Given the description of an element on the screen output the (x, y) to click on. 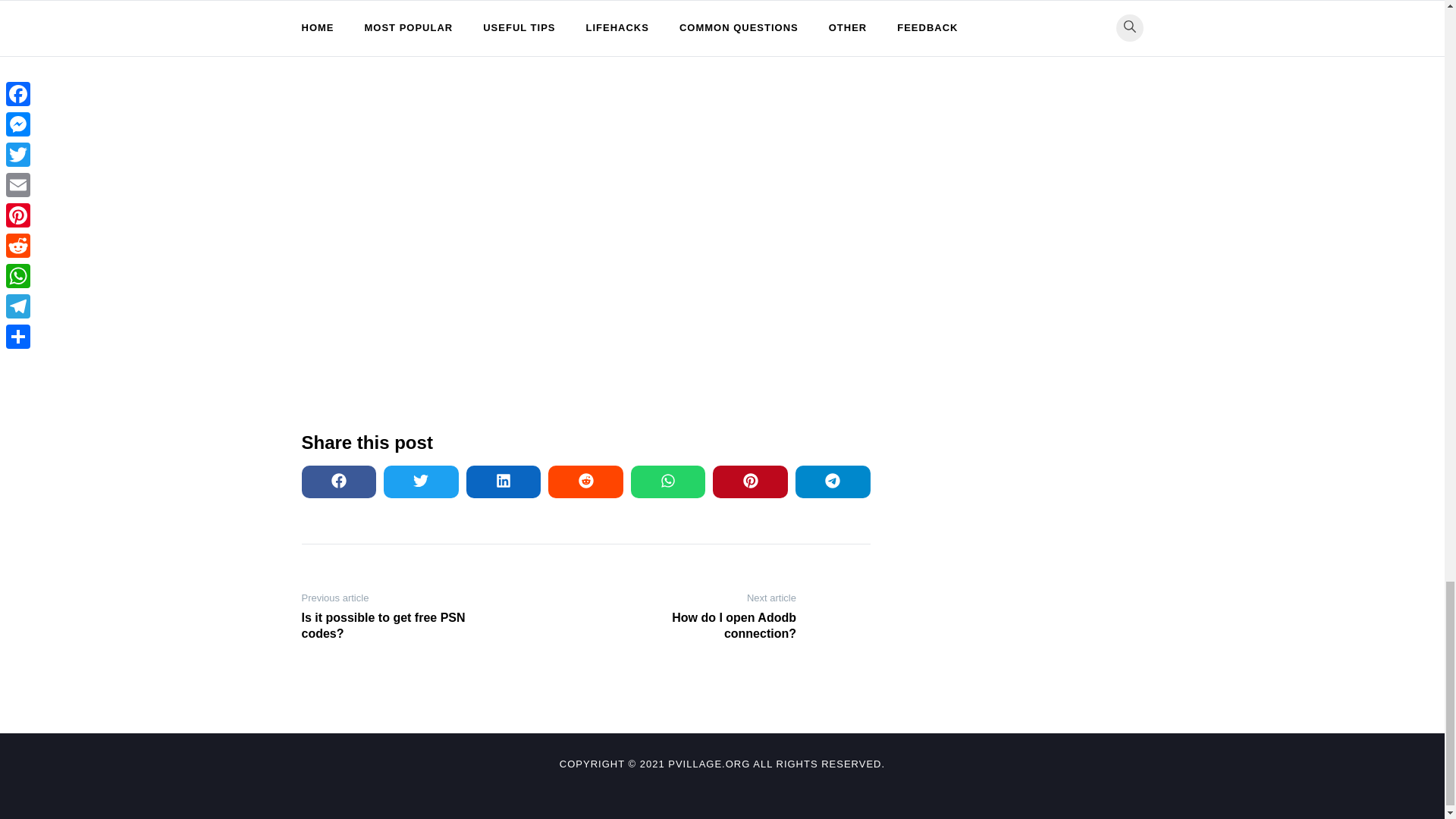
Is it possible to get free PSN codes? (400, 626)
How do I open Adodb connection? (696, 626)
